Given the description of an element on the screen output the (x, y) to click on. 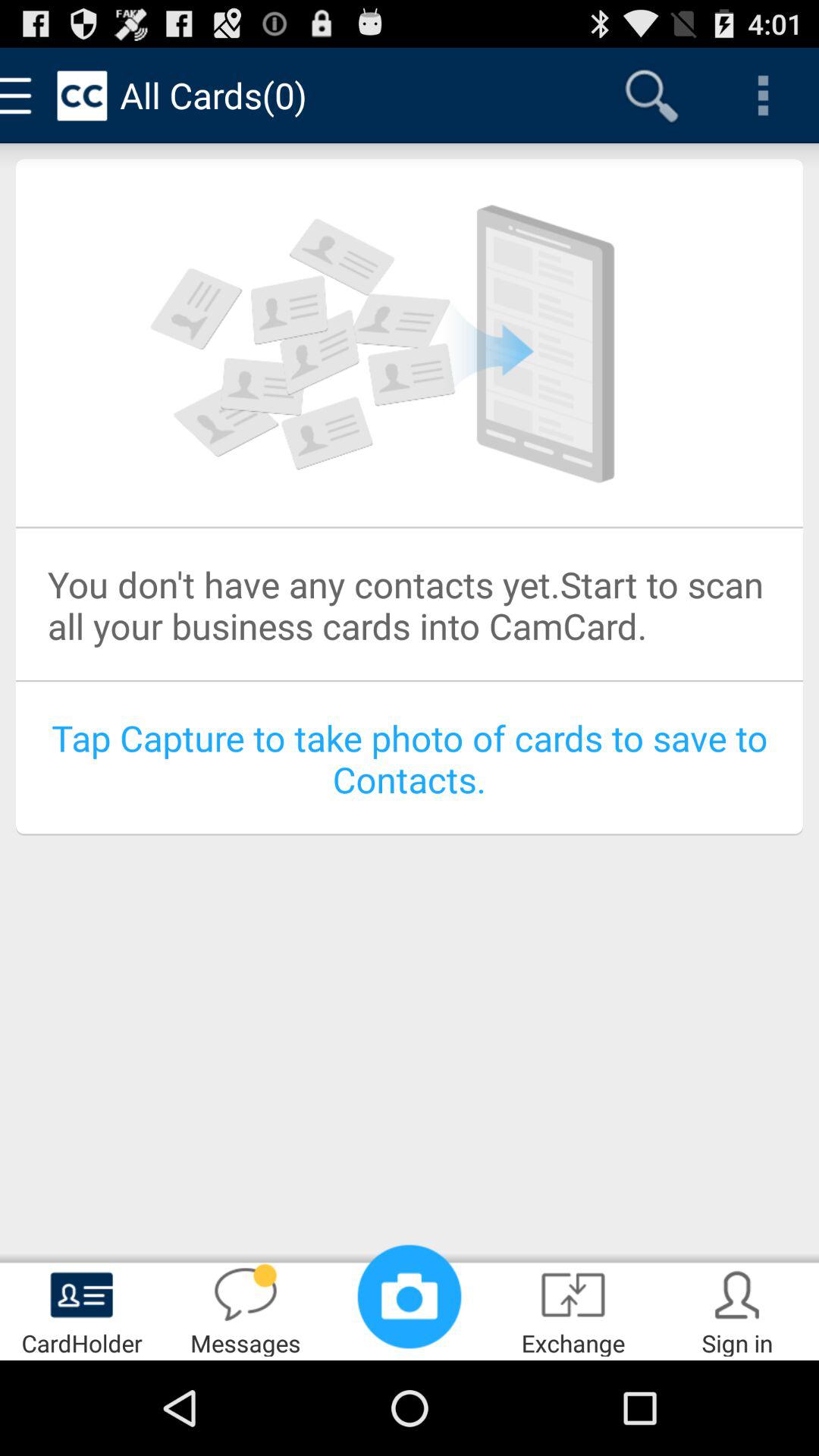
scroll until the tap capture to app (409, 758)
